Given the description of an element on the screen output the (x, y) to click on. 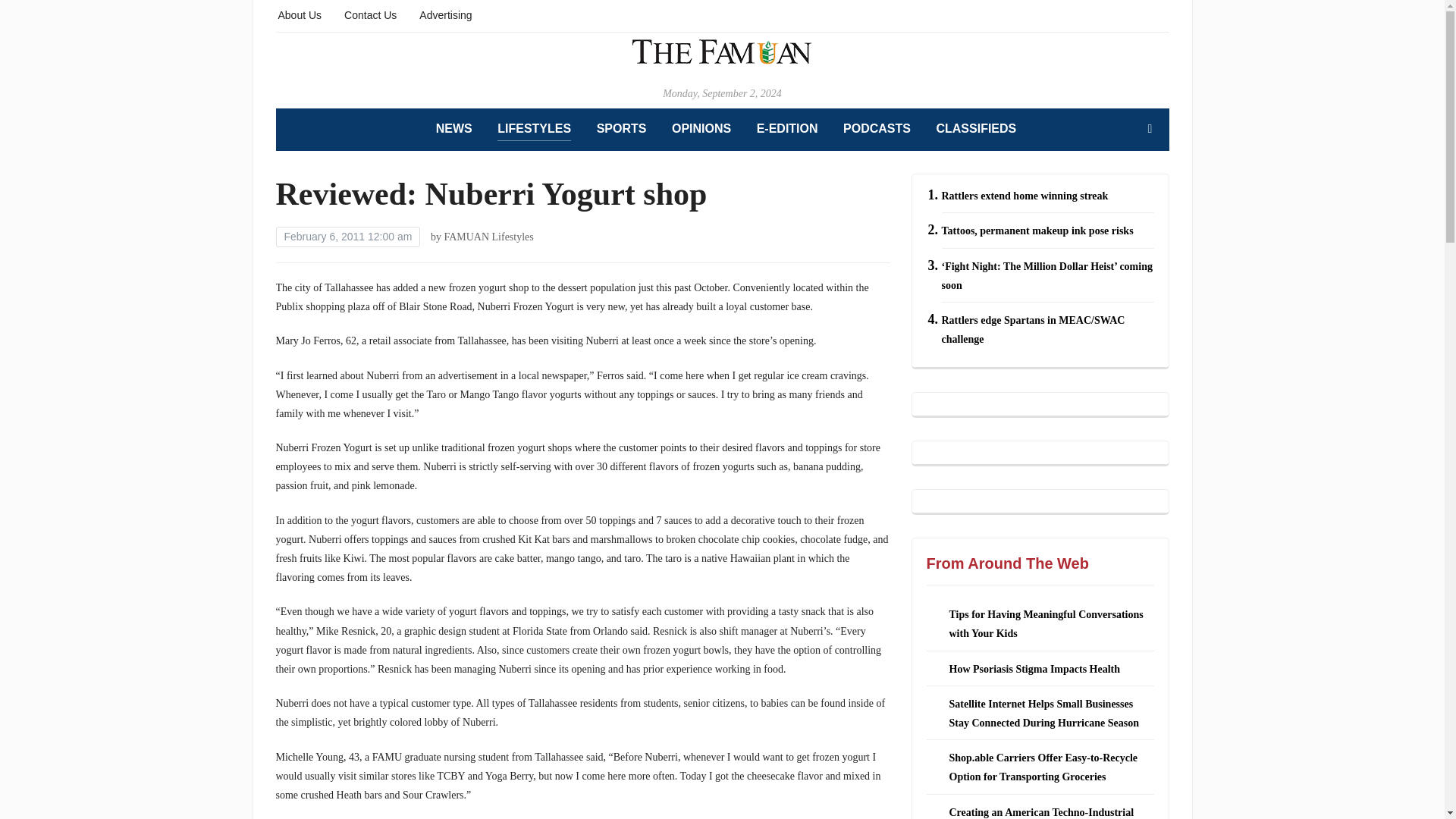
Advertising (445, 14)
Rattlers extend home winning streak (1025, 195)
Tips for Having Meaningful Conversations with Your Kids (1045, 624)
Creating an American Techno-Industrial Strategy (1041, 812)
Creating an American Techno-Industrial Strategy (1041, 812)
PODCASTS (877, 128)
CLASSIFIEDS (976, 128)
NEWS (453, 128)
LIFESTYLES (533, 128)
